Given the description of an element on the screen output the (x, y) to click on. 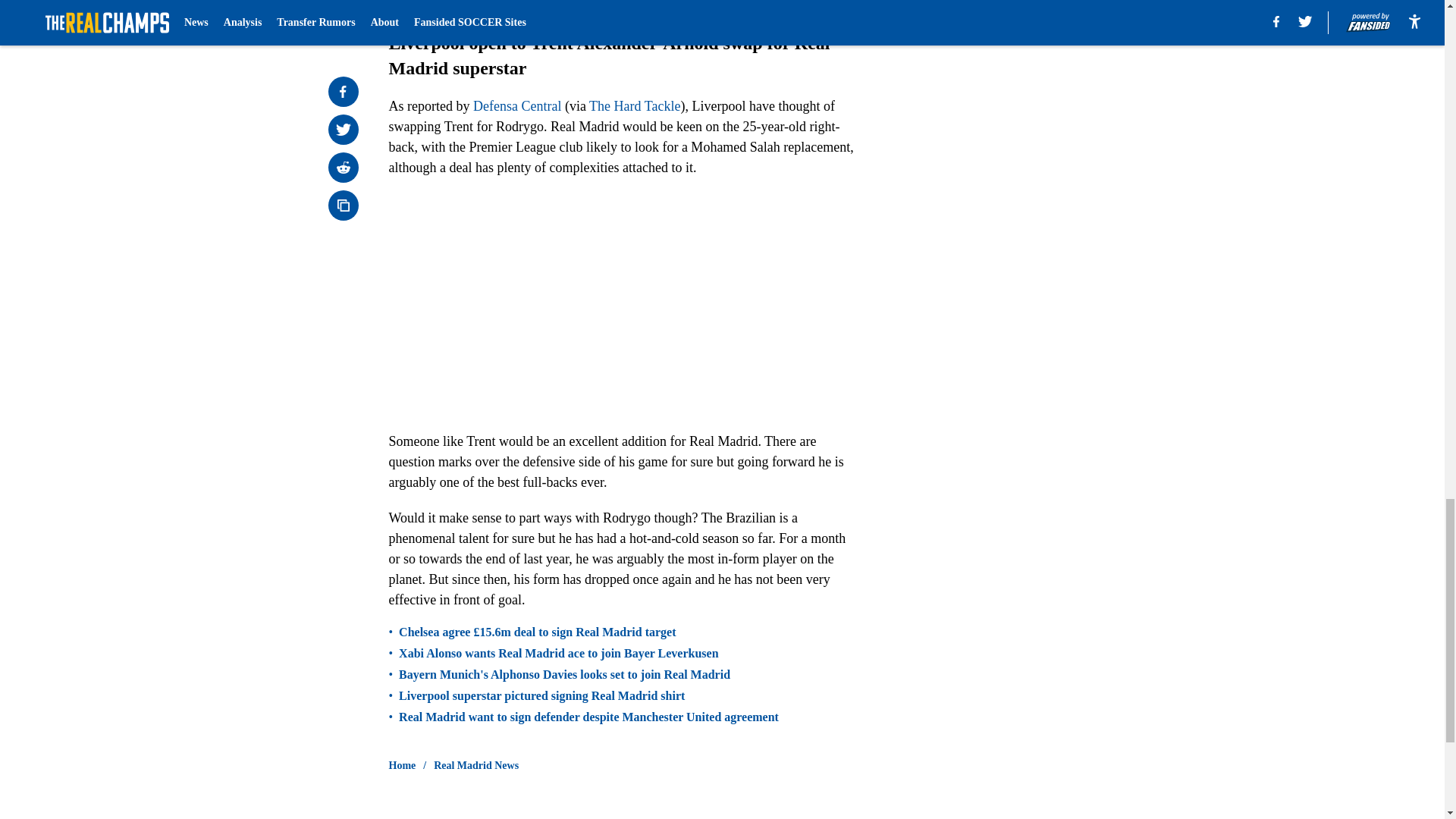
Xabi Alonso wants Real Madrid ace to join Bayer Leverkusen (557, 653)
Defensa Central (516, 105)
The Hard Tackle (634, 105)
Liverpool superstar pictured signing Real Madrid shirt (541, 695)
Real Madrid News (475, 765)
Home (401, 765)
